Given the description of an element on the screen output the (x, y) to click on. 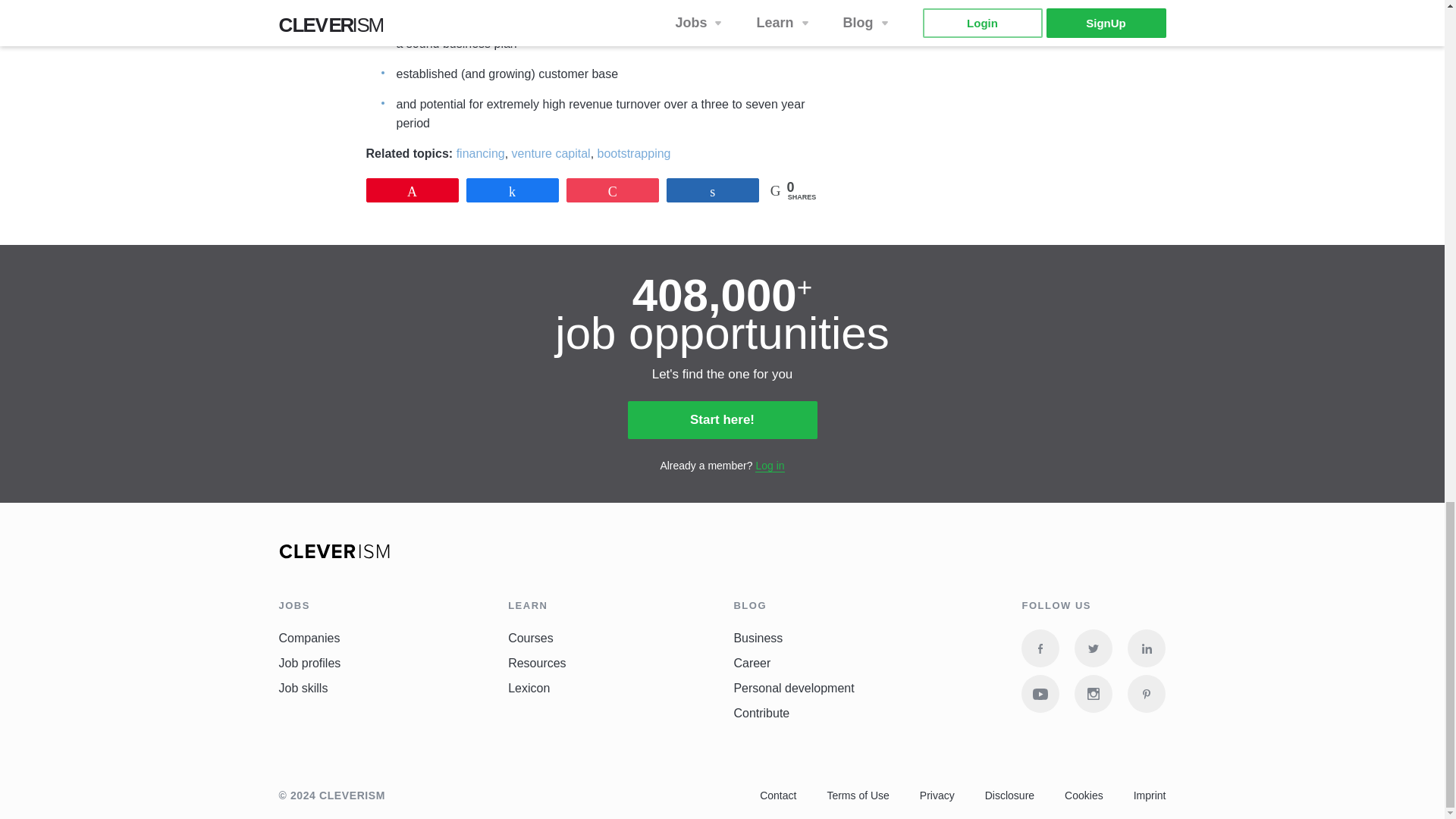
Lexicon (529, 688)
bootstrapping (633, 154)
financing (481, 154)
Job profiles (309, 663)
Job skills (304, 688)
Courses (530, 638)
Business (758, 638)
Start here! (721, 419)
Personal development (793, 688)
Career (751, 663)
